Given the description of an element on the screen output the (x, y) to click on. 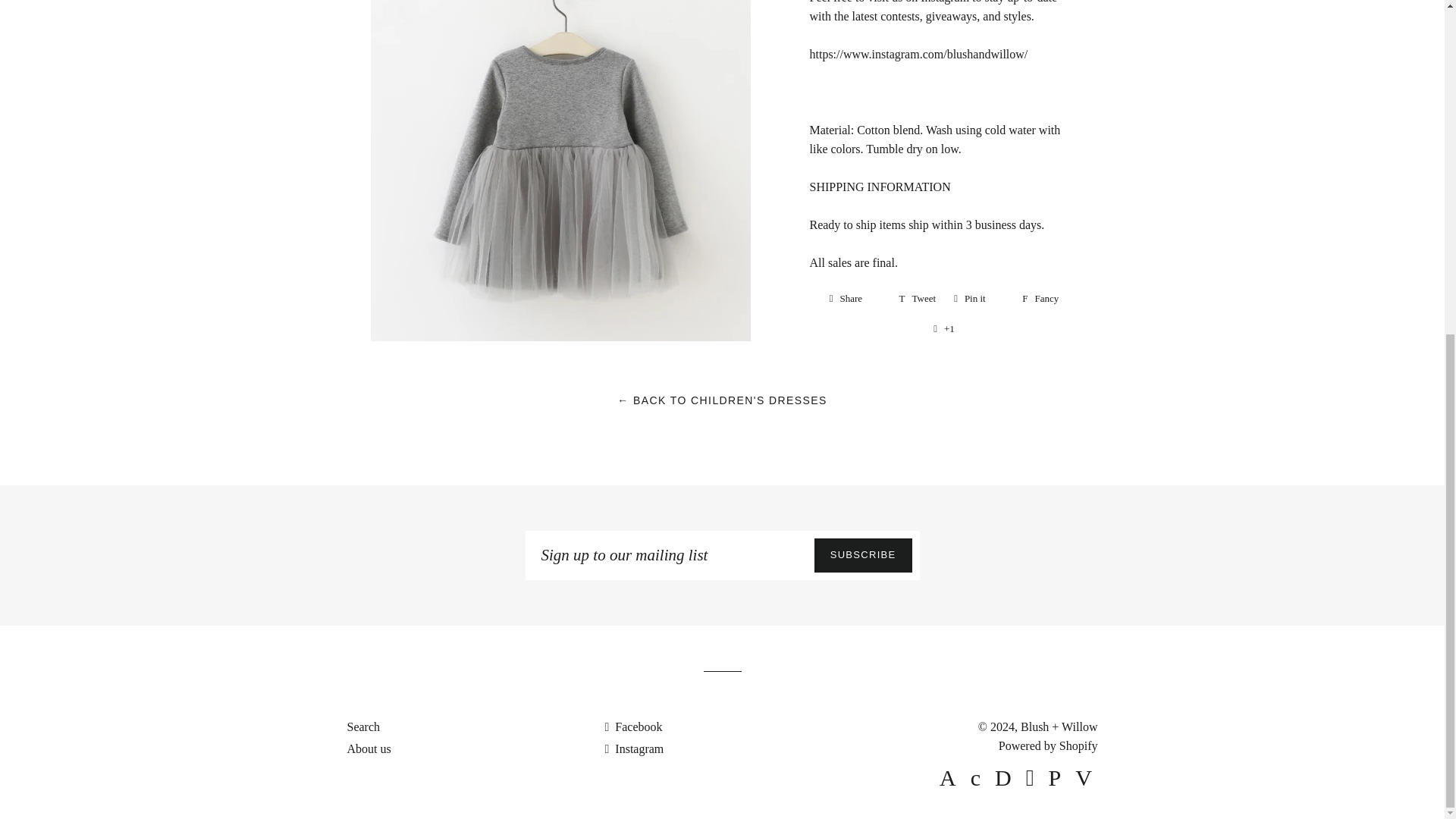
Pin on Pinterest (978, 298)
Share on Facebook (855, 298)
Tweet on Twitter (917, 298)
Add to Fancy (1039, 298)
